Given the description of an element on the screen output the (x, y) to click on. 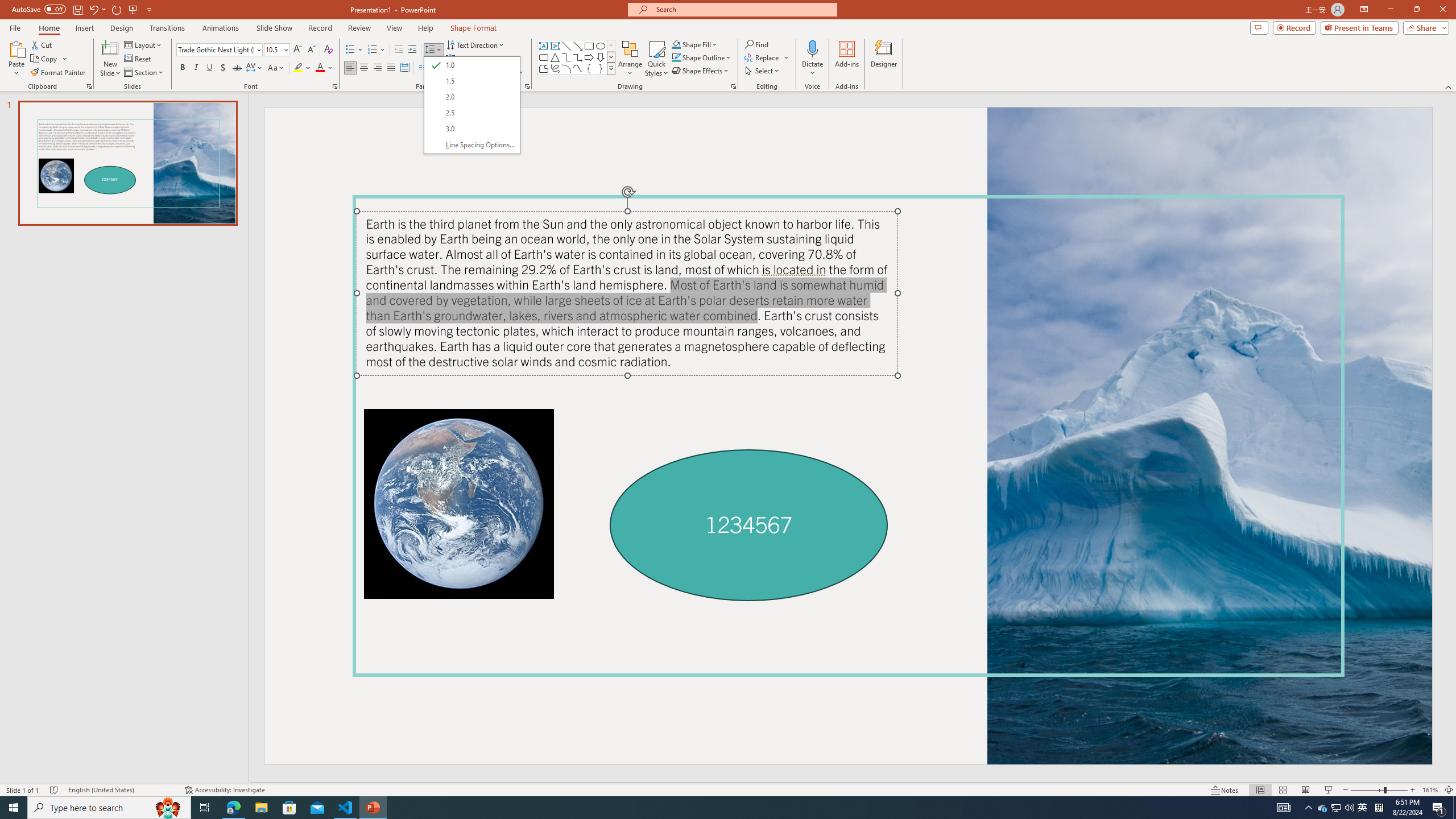
Zoom 161% (1430, 790)
